Given the description of an element on the screen output the (x, y) to click on. 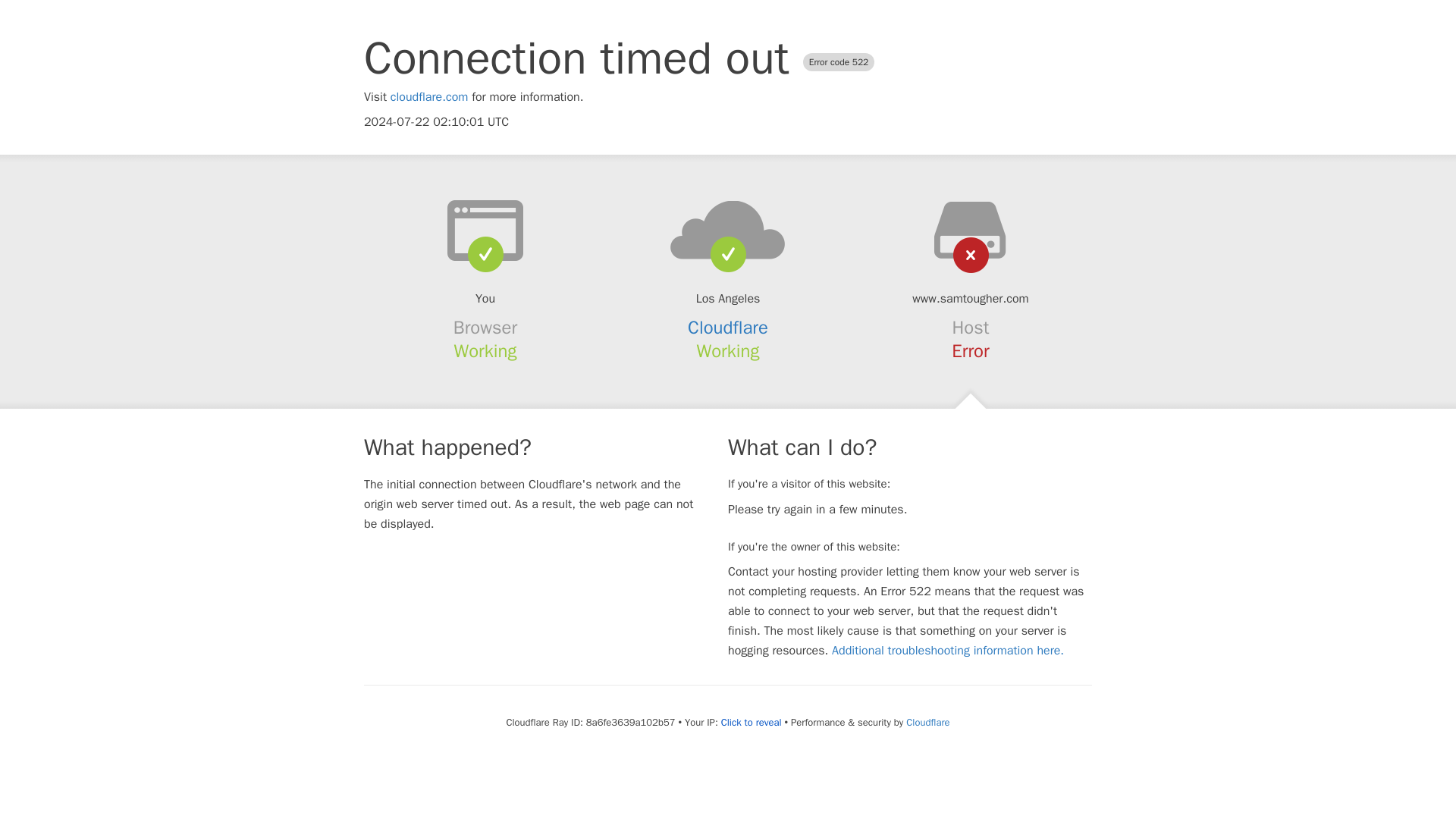
Cloudflare (927, 721)
Click to reveal (750, 722)
Cloudflare (727, 327)
Additional troubleshooting information here. (947, 650)
cloudflare.com (429, 96)
